Given the description of an element on the screen output the (x, y) to click on. 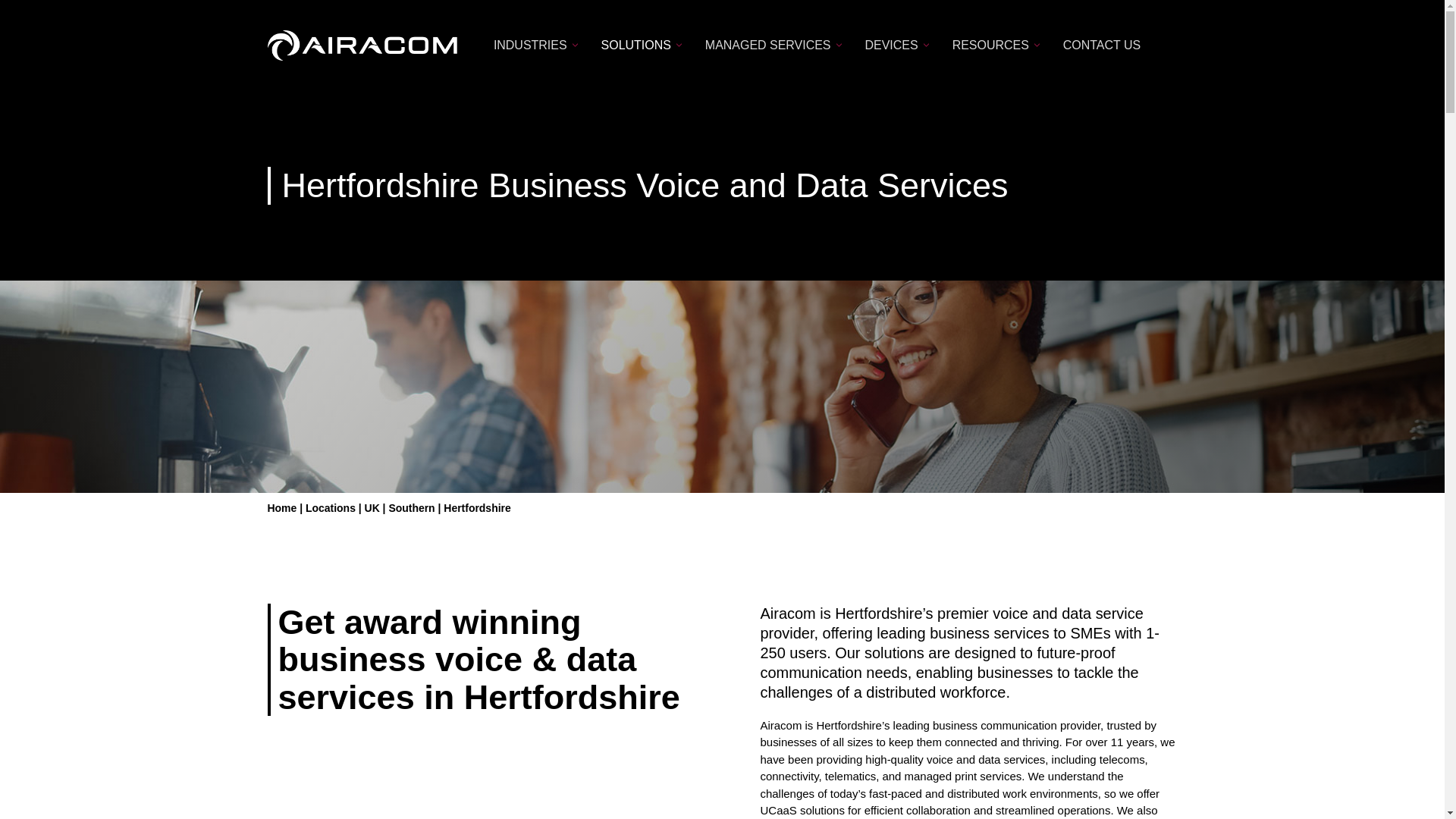
INDUSTRIES (532, 45)
